Given the description of an element on the screen output the (x, y) to click on. 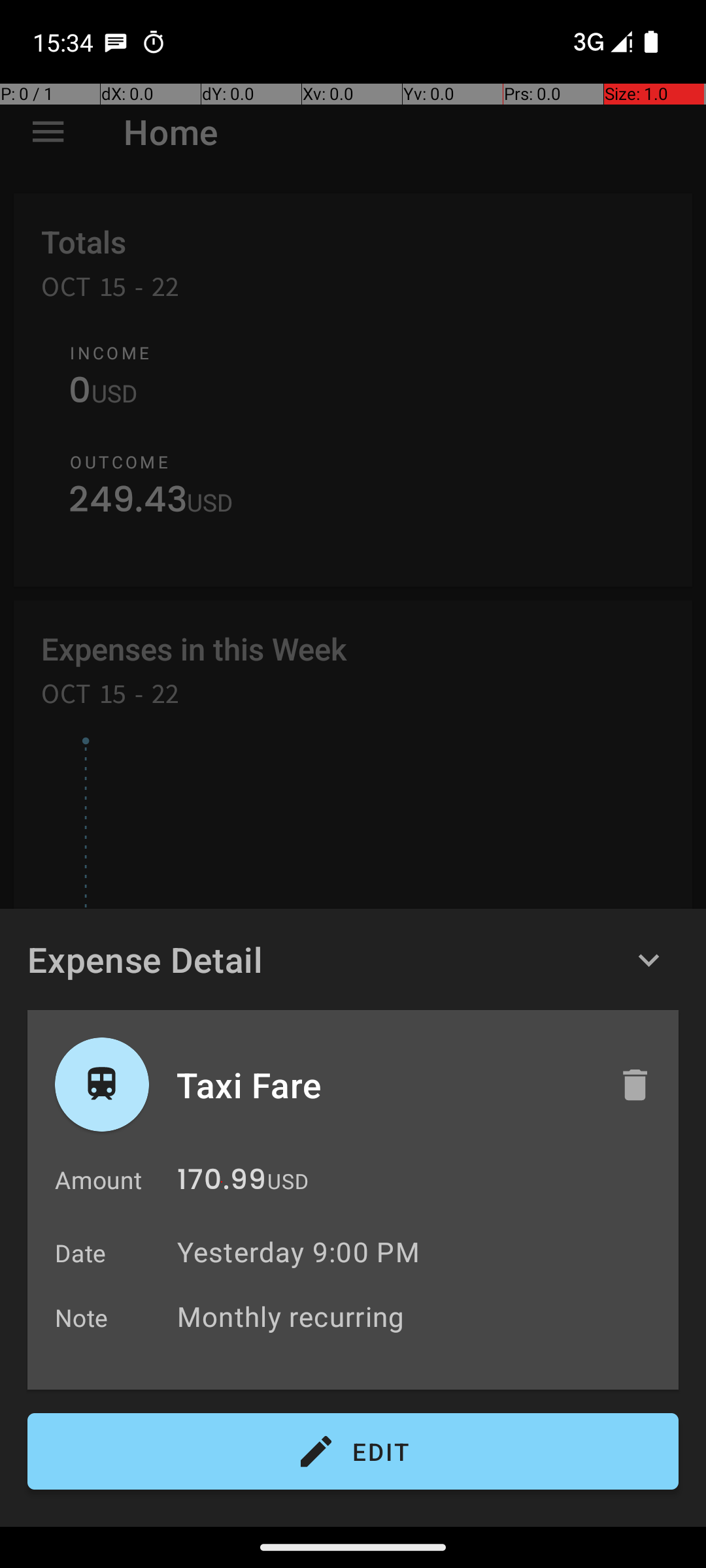
Taxi Fare Element type: android.widget.TextView (383, 1084)
170.99 Element type: android.widget.TextView (221, 1182)
Yesterday 9:00 PM Element type: android.widget.TextView (298, 1251)
